Given the description of an element on the screen output the (x, y) to click on. 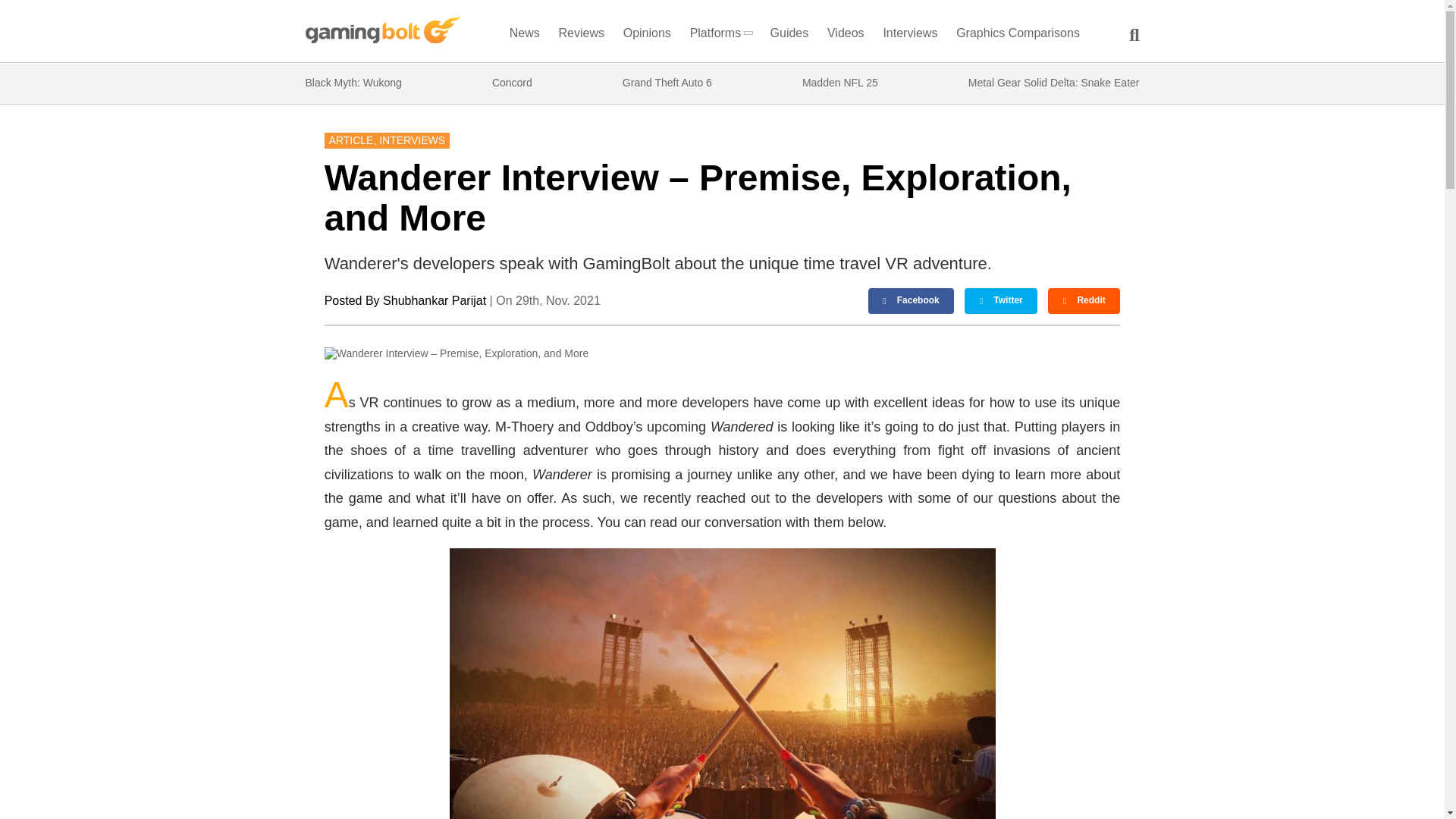
Guides (789, 36)
Reddit (1083, 300)
Interviews (909, 36)
Videos (845, 36)
Facebook (911, 300)
Madden NFL 25 (839, 82)
Reviews (581, 36)
Platforms (720, 36)
Black Myth: Wukong (352, 82)
Concord (512, 82)
